Given the description of an element on the screen output the (x, y) to click on. 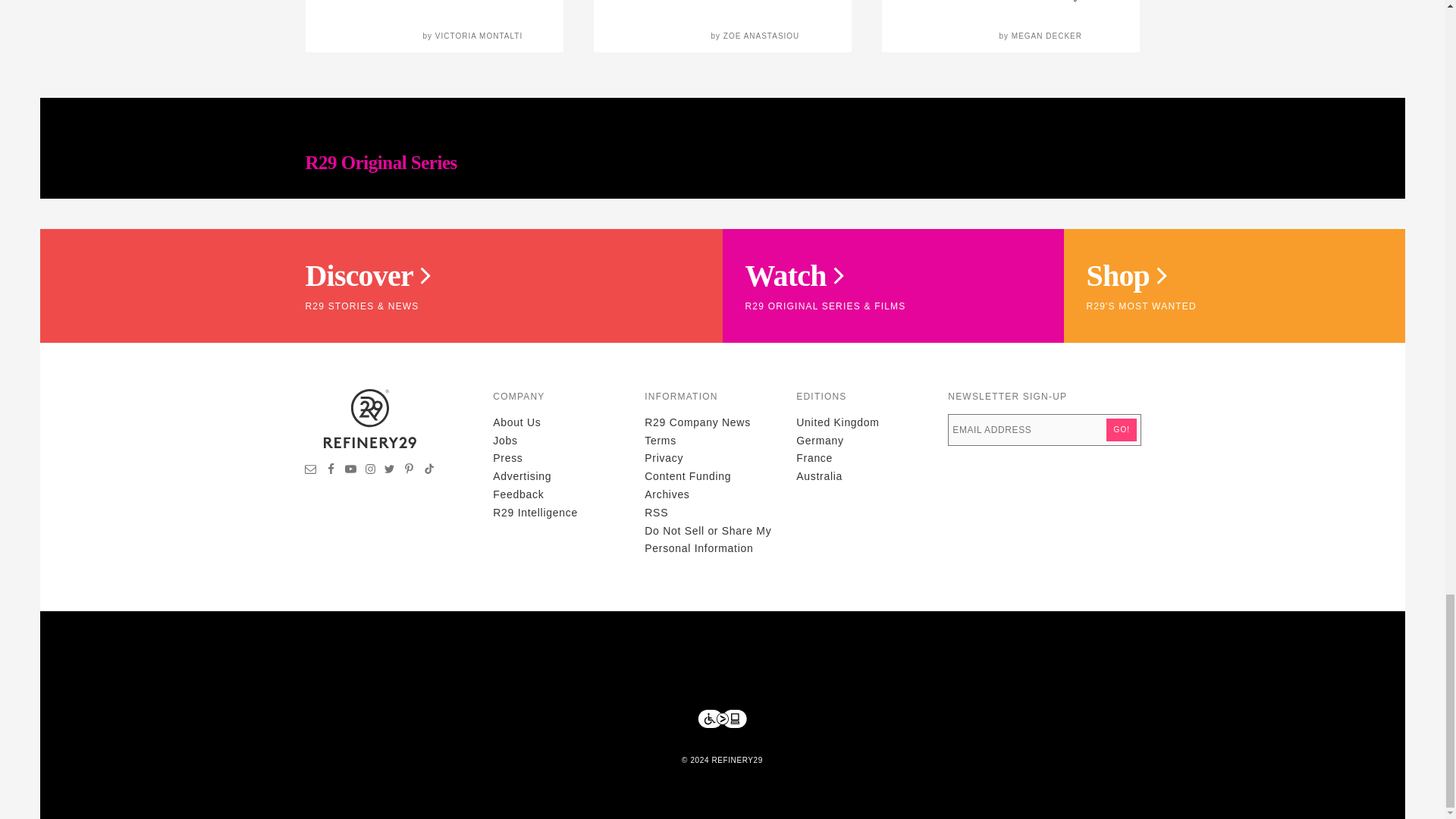
Sign up for newsletters (310, 470)
Visit Refinery29 on YouTube (350, 470)
Visit Refinery29 on TikTok (428, 470)
